Given the description of an element on the screen output the (x, y) to click on. 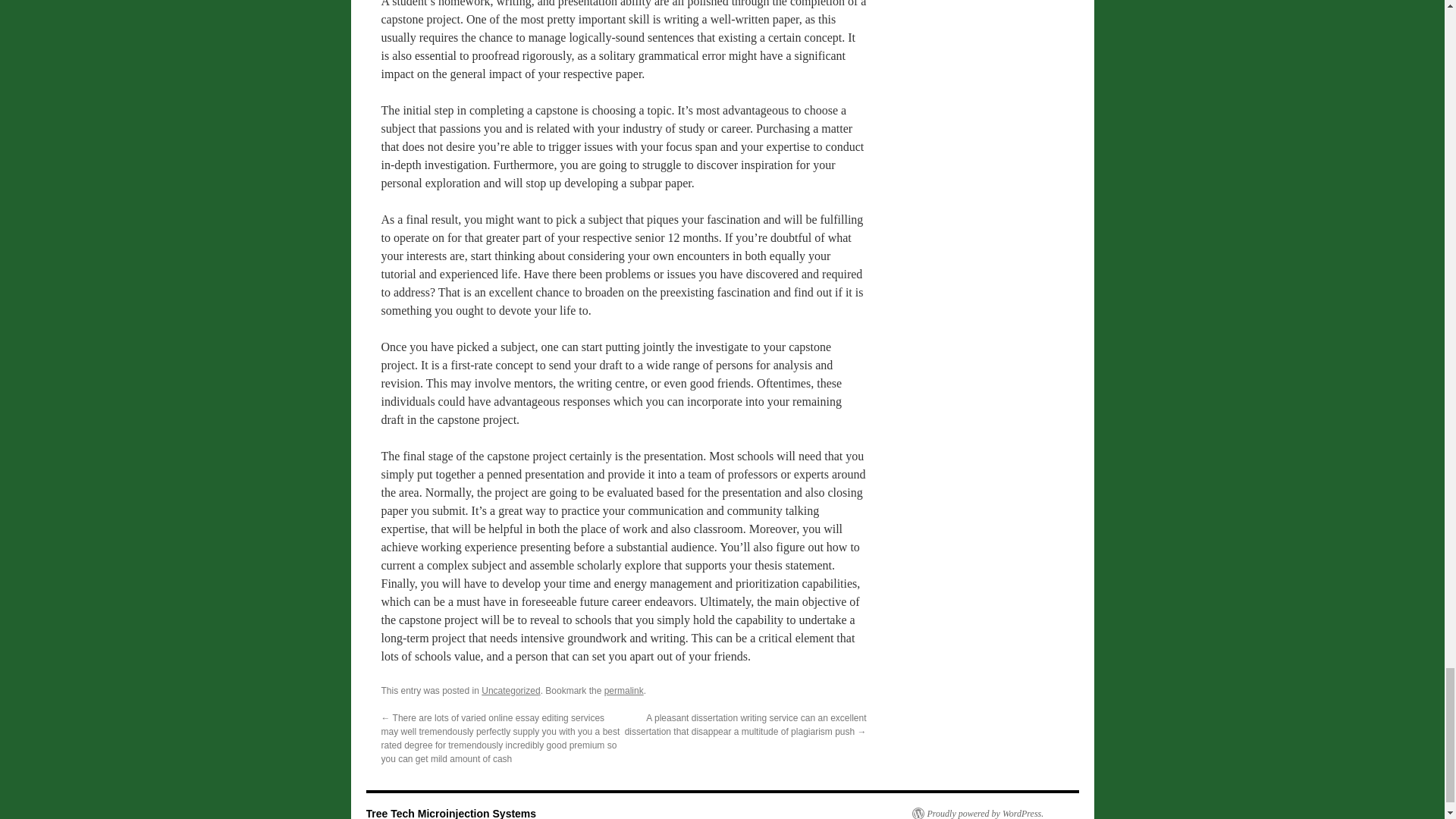
permalink (623, 690)
Uncategorized (510, 690)
